Given the description of an element on the screen output the (x, y) to click on. 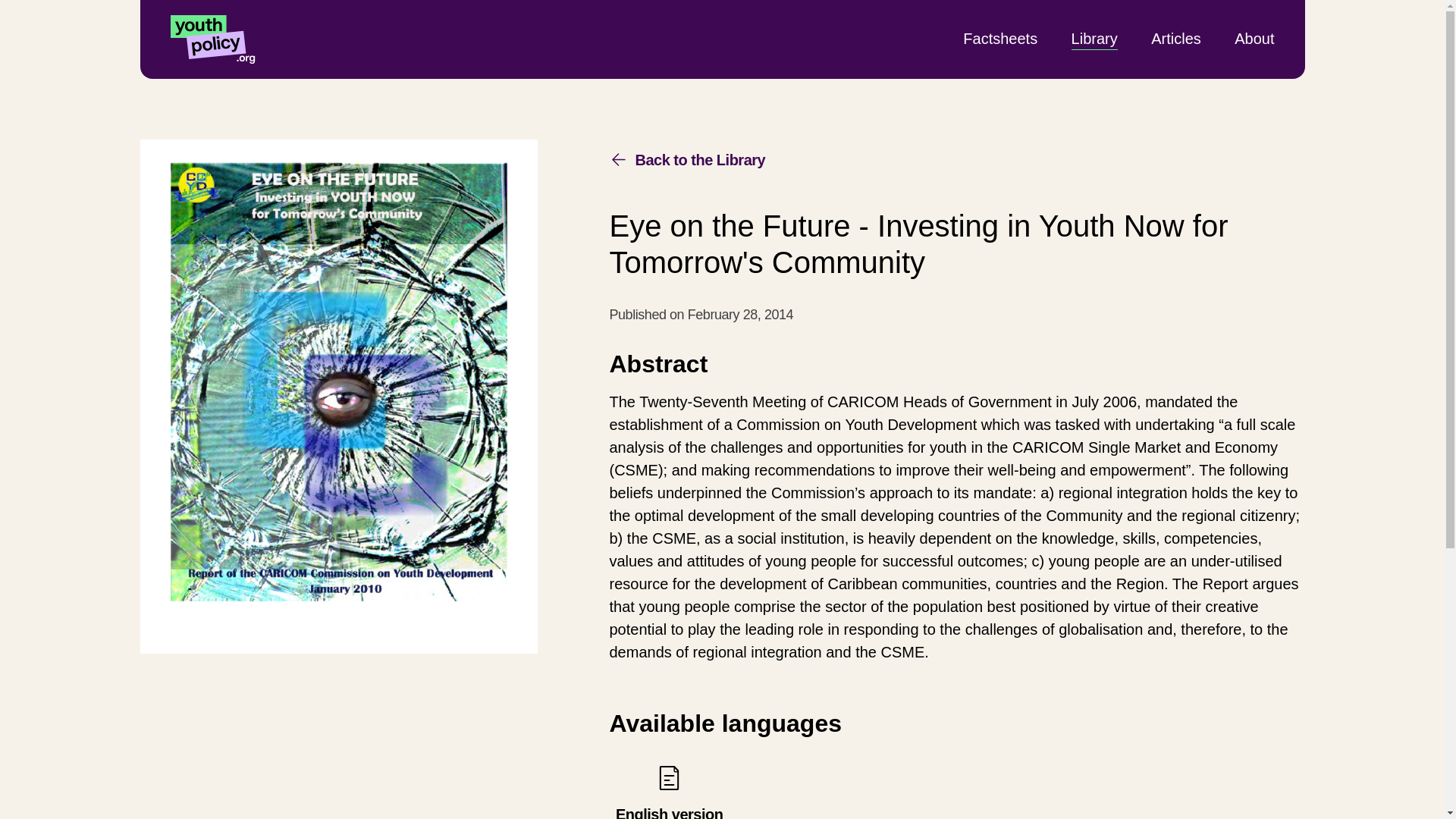
Articles (1176, 38)
About (1254, 38)
Library (669, 790)
Back to the Library (1094, 38)
Factsheets (687, 159)
